Given the description of an element on the screen output the (x, y) to click on. 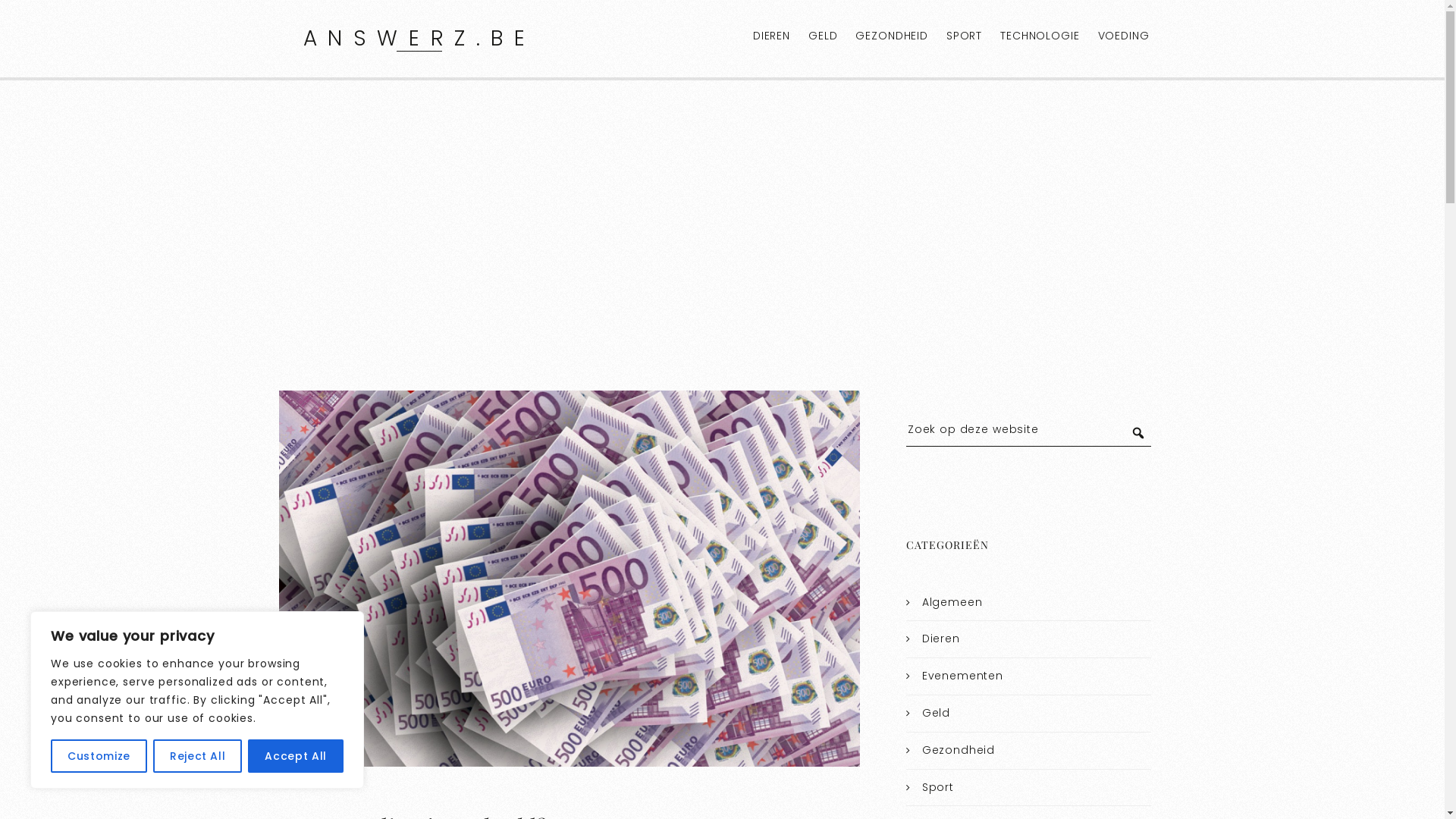
Dieren Element type: text (941, 638)
Gezondheid Element type: text (958, 749)
TECHNOLOGIE Element type: text (1039, 35)
Reject All Element type: text (197, 755)
DIEREN Element type: text (771, 35)
GELD Element type: text (822, 35)
Algemeen Element type: text (952, 601)
ANSWERZ.BE Element type: text (419, 38)
Advertisement Element type: hover (721, 219)
SPORT Element type: text (964, 35)
VOEDING Element type: text (1123, 35)
Accept All Element type: text (295, 755)
Customize Element type: text (98, 755)
Evenementen Element type: text (962, 675)
Geld Element type: text (936, 712)
GEZONDHEID Element type: text (891, 35)
Sport Element type: text (937, 786)
